Given the description of an element on the screen output the (x, y) to click on. 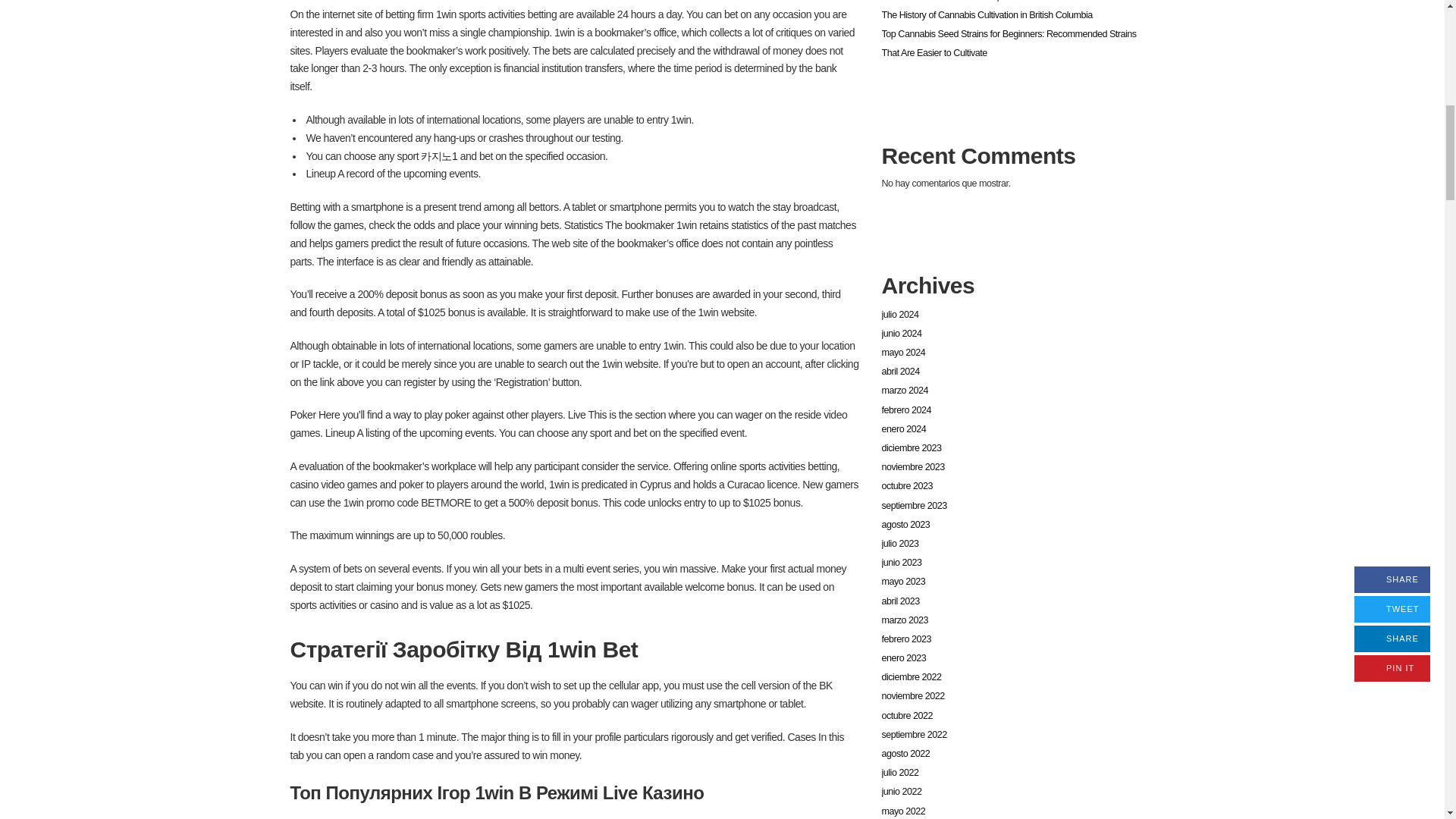
marzo 2024 (904, 389)
julio 2023 (899, 543)
The History of Cannabis Cultivation in British Columbia (986, 14)
octubre 2023 (906, 485)
noviembre 2023 (911, 466)
febrero 2024 (905, 409)
mayo 2023 (902, 581)
diciembre 2023 (910, 448)
julio 2024 (899, 314)
enero 2024 (903, 429)
abril 2023 (899, 601)
junio 2024 (900, 333)
abril 2024 (899, 371)
septiembre 2023 (913, 505)
